Given the description of an element on the screen output the (x, y) to click on. 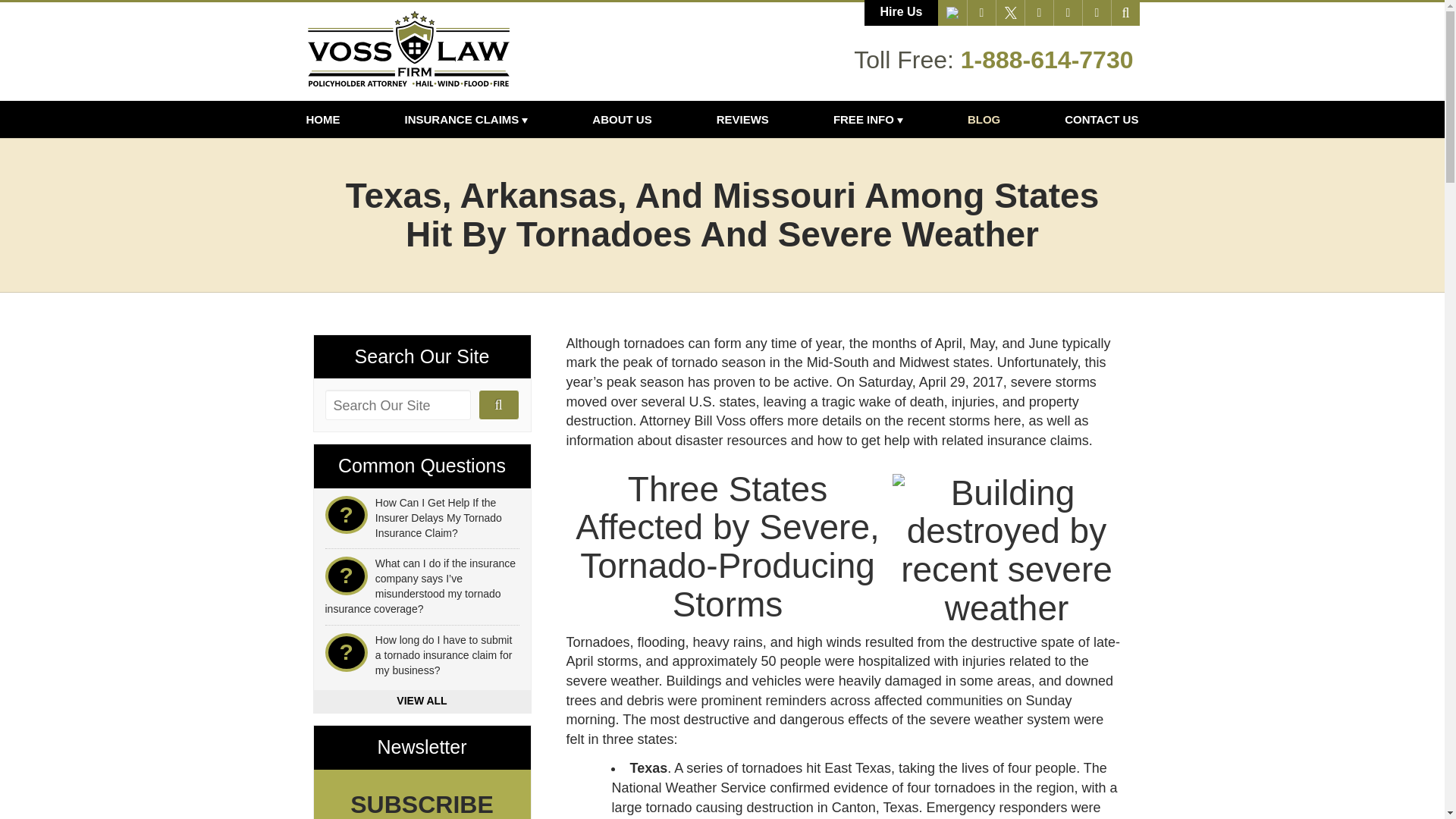
Search (499, 404)
HOME (336, 119)
Search (1125, 12)
INSURANCE CLAIMS (465, 119)
Hire Us (900, 12)
